Given the description of an element on the screen output the (x, y) to click on. 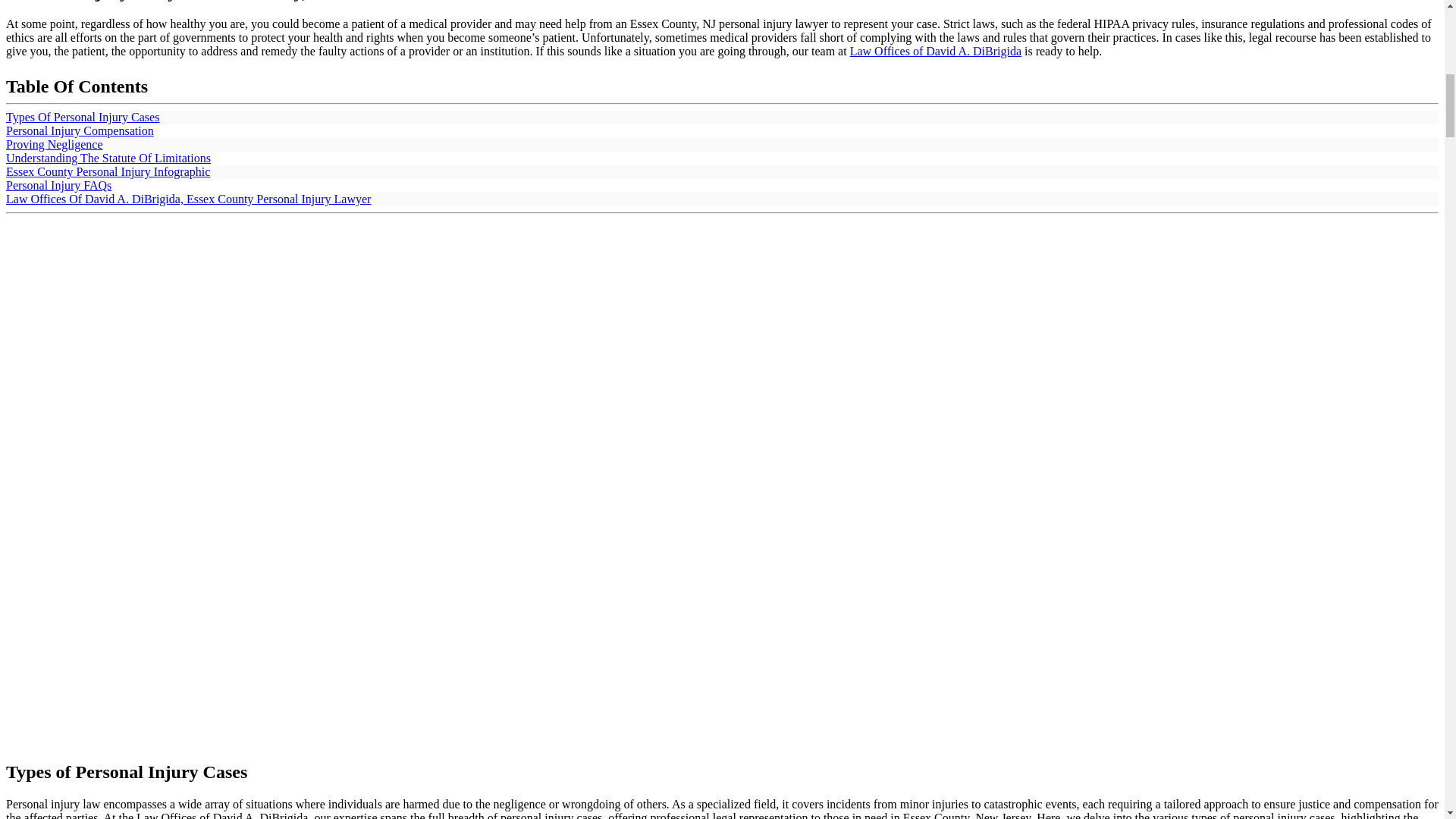
Types Of Personal Injury Cases (81, 116)
Law Offices of David A. DiBrigida (936, 51)
